Given the description of an element on the screen output the (x, y) to click on. 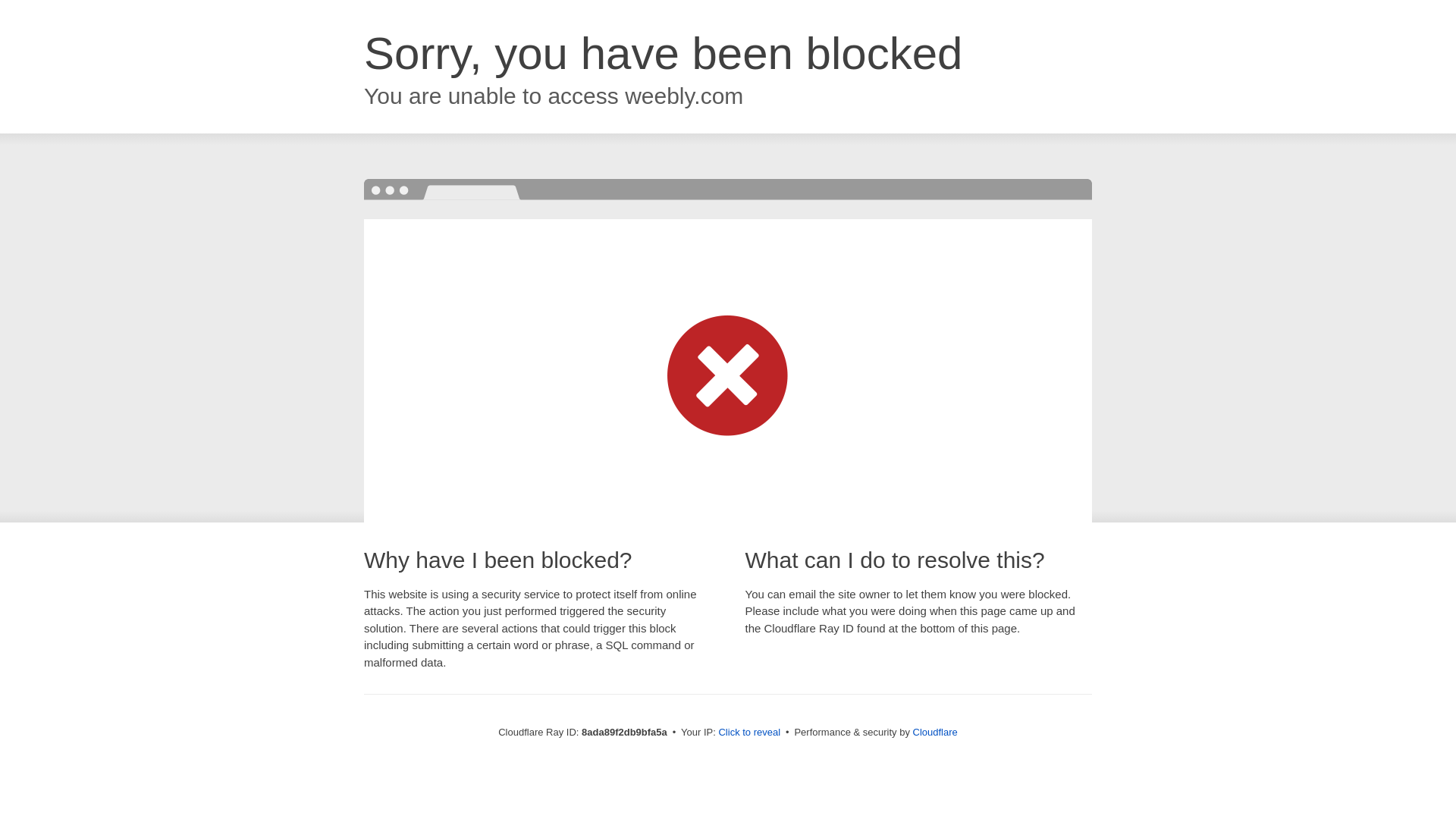
Click to reveal (748, 732)
Cloudflare (935, 731)
